Given the description of an element on the screen output the (x, y) to click on. 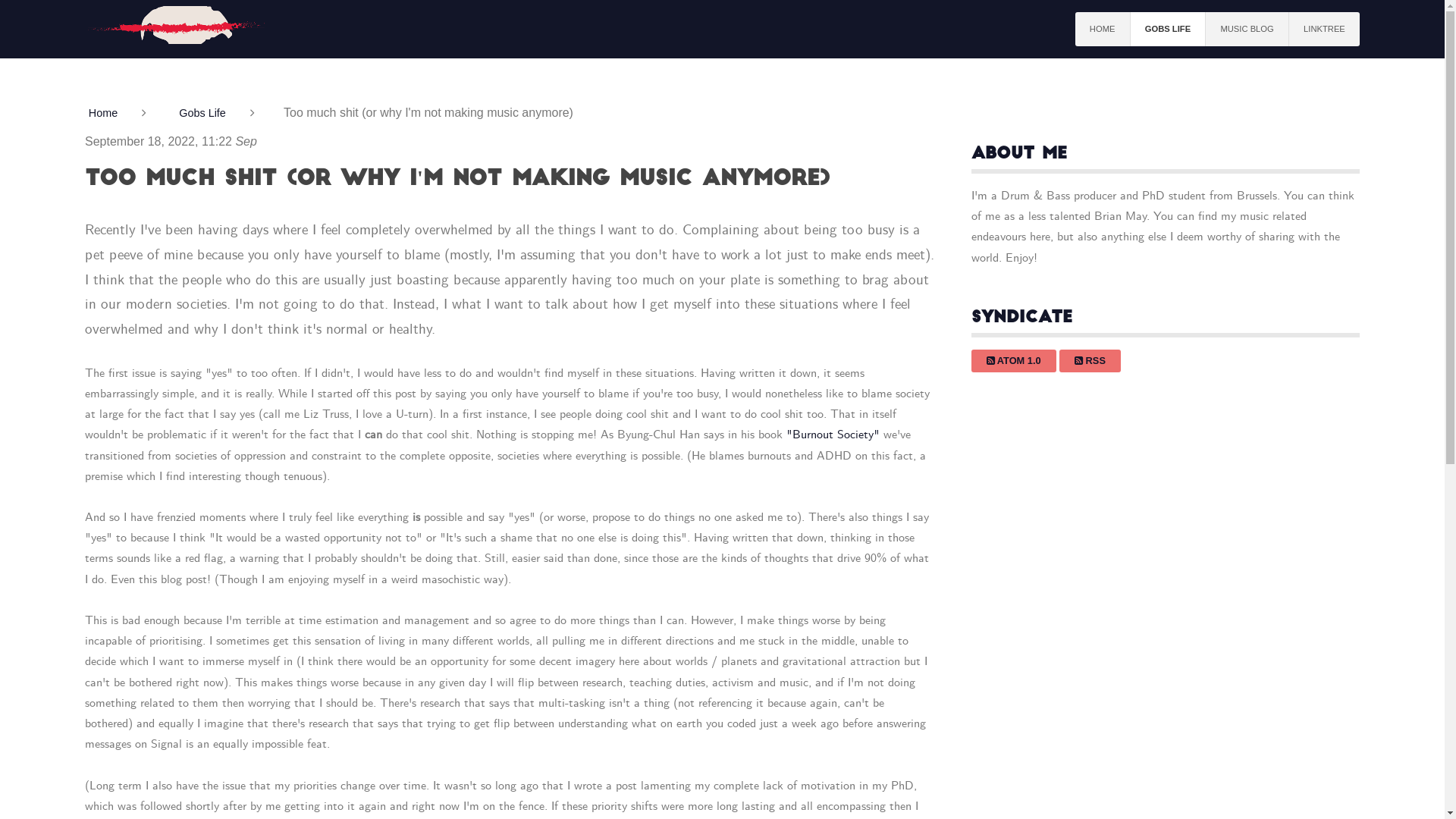
HOME Element type: text (1102, 29)
ATOM 1.0 Element type: text (1013, 361)
"Burnout Society" Element type: text (832, 434)
MUSIC BLOG Element type: text (1247, 29)
Home Element type: text (110, 112)
RSS Element type: text (1089, 361)
Gobs Life Element type: text (209, 112)
Too much shit (or why I'm not making music anymore) Element type: text (456, 179)
GOBS LIFE Element type: text (1168, 29)
LINKTREE Element type: text (1324, 29)
